Given the description of an element on the screen output the (x, y) to click on. 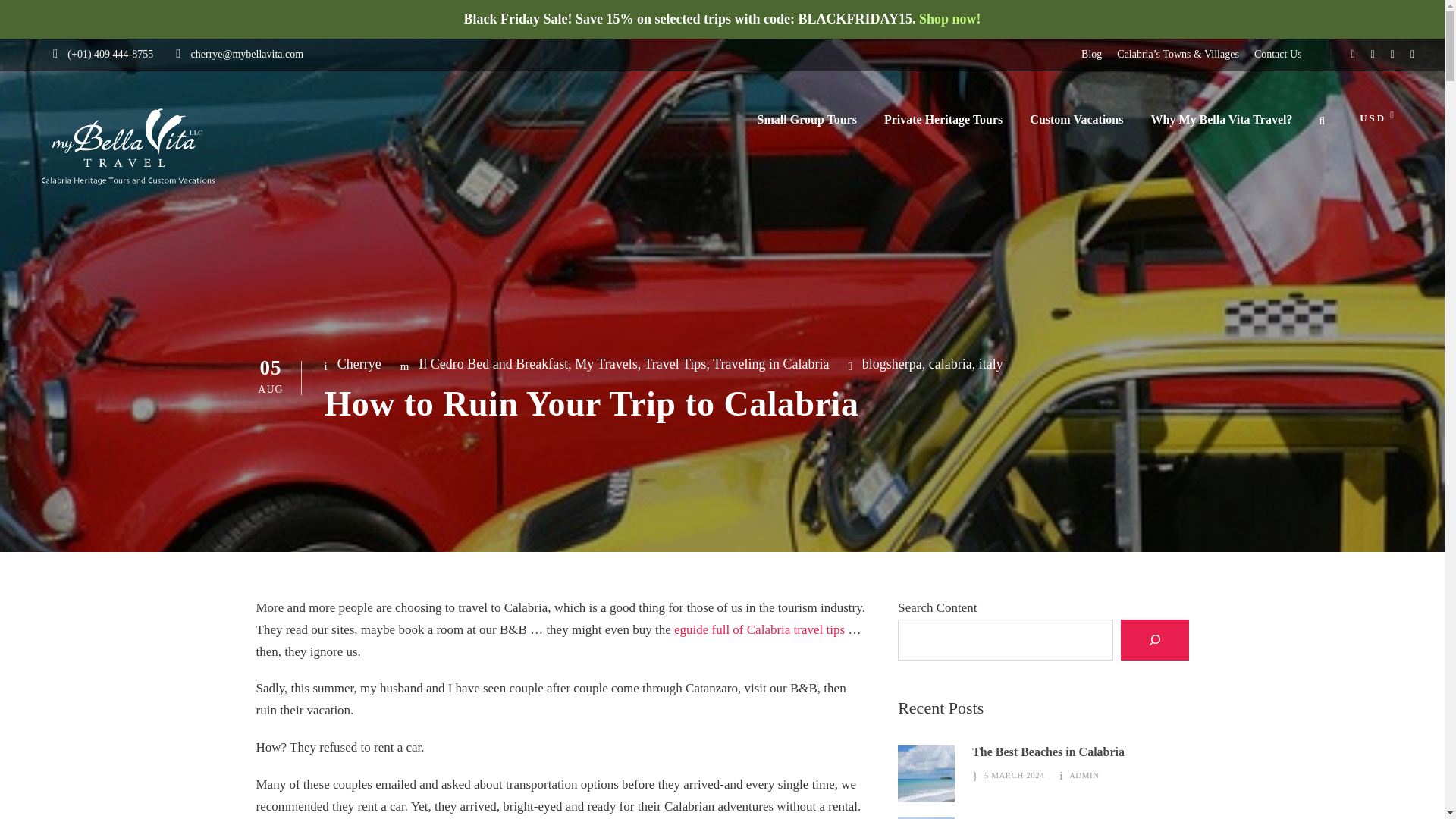
facebook (1353, 53)
Custom Vacations (1075, 126)
myBellaVitaWHITE (129, 146)
Why My Bella Vita Travel? (1221, 126)
instagram (1411, 53)
twitter (1372, 53)
youtube (1392, 53)
Small Group Tours (807, 126)
Posts by Cherrye (359, 363)
Shop now! (949, 18)
Private Heritage Tours (943, 126)
Posts by admin (1083, 774)
Contact Us (1277, 54)
Blog (1091, 54)
